Given the description of an element on the screen output the (x, y) to click on. 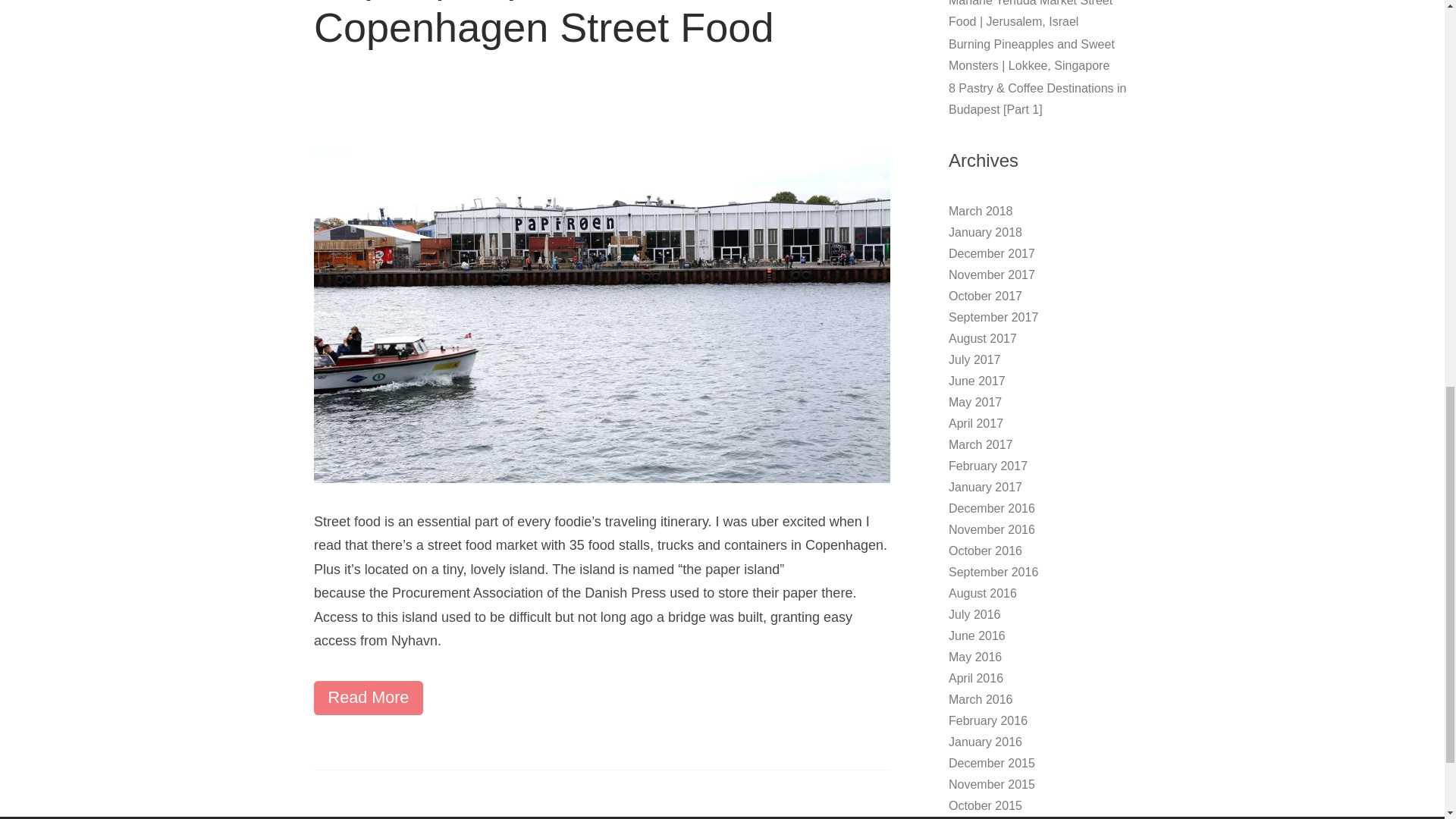
Read More (368, 697)
